Given the description of an element on the screen output the (x, y) to click on. 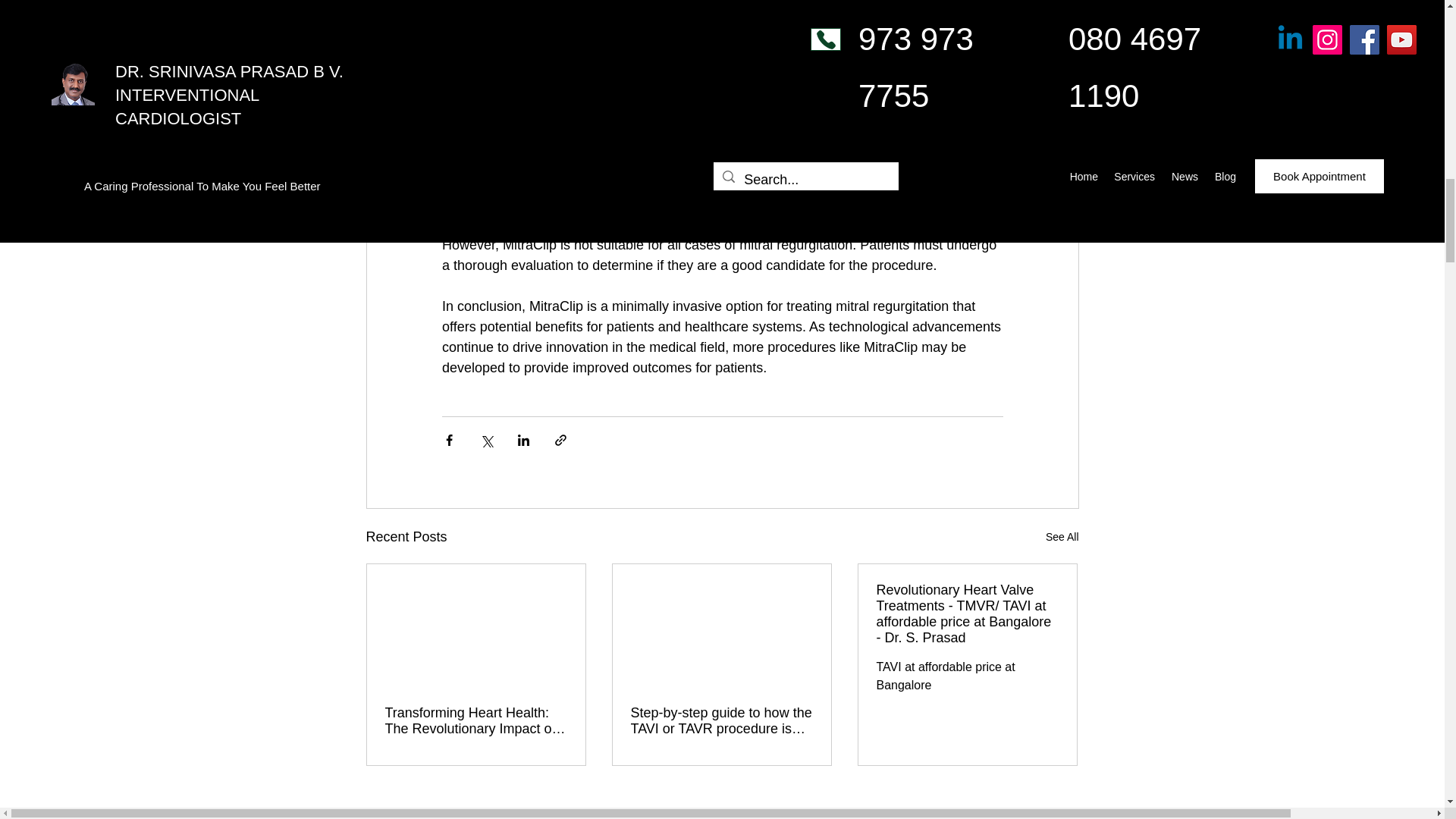
See All (1061, 536)
